Given the description of an element on the screen output the (x, y) to click on. 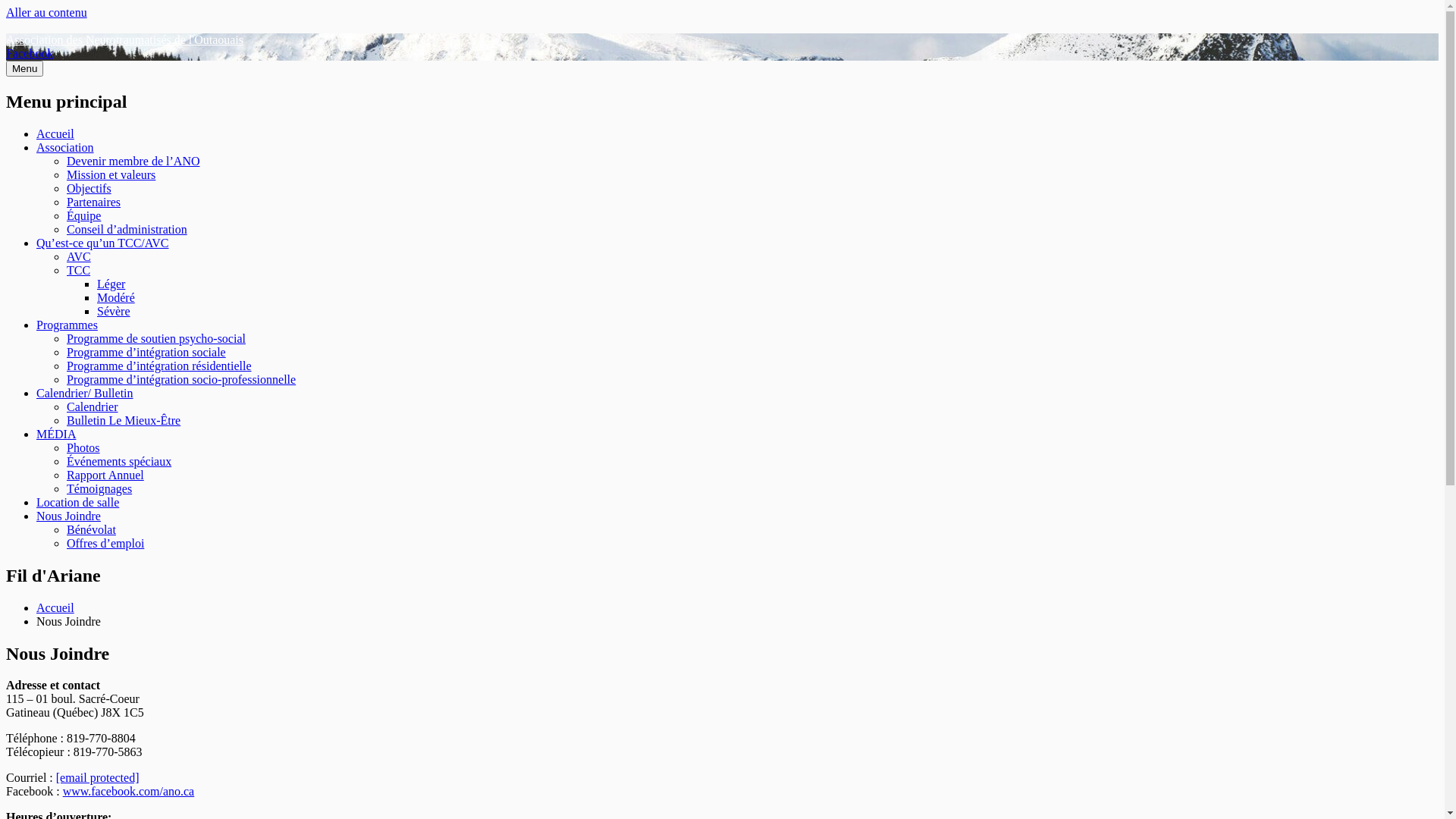
Calendrier/ Bulletin Element type: text (84, 392)
Mission et valeurs Element type: text (110, 174)
Programme de soutien psycho-social Element type: text (155, 338)
AVC Element type: text (78, 256)
Accueil Element type: text (55, 607)
Rapport Annuel Element type: text (105, 474)
Aller au contenu Element type: text (46, 12)
Photos Element type: text (83, 447)
Association Element type: text (65, 147)
Partenaires Element type: text (93, 201)
Facebook Element type: text (29, 53)
Nous Joindre Element type: text (68, 515)
Programmes Element type: text (66, 324)
[email protected] Element type: text (97, 777)
Location de salle Element type: text (77, 501)
Accueil Element type: text (55, 133)
Menu Element type: text (24, 68)
www.facebook.com/ano.ca Element type: text (128, 790)
Objectifs Element type: text (88, 188)
Calendrier Element type: text (92, 406)
TCC Element type: text (78, 269)
